Given the description of an element on the screen output the (x, y) to click on. 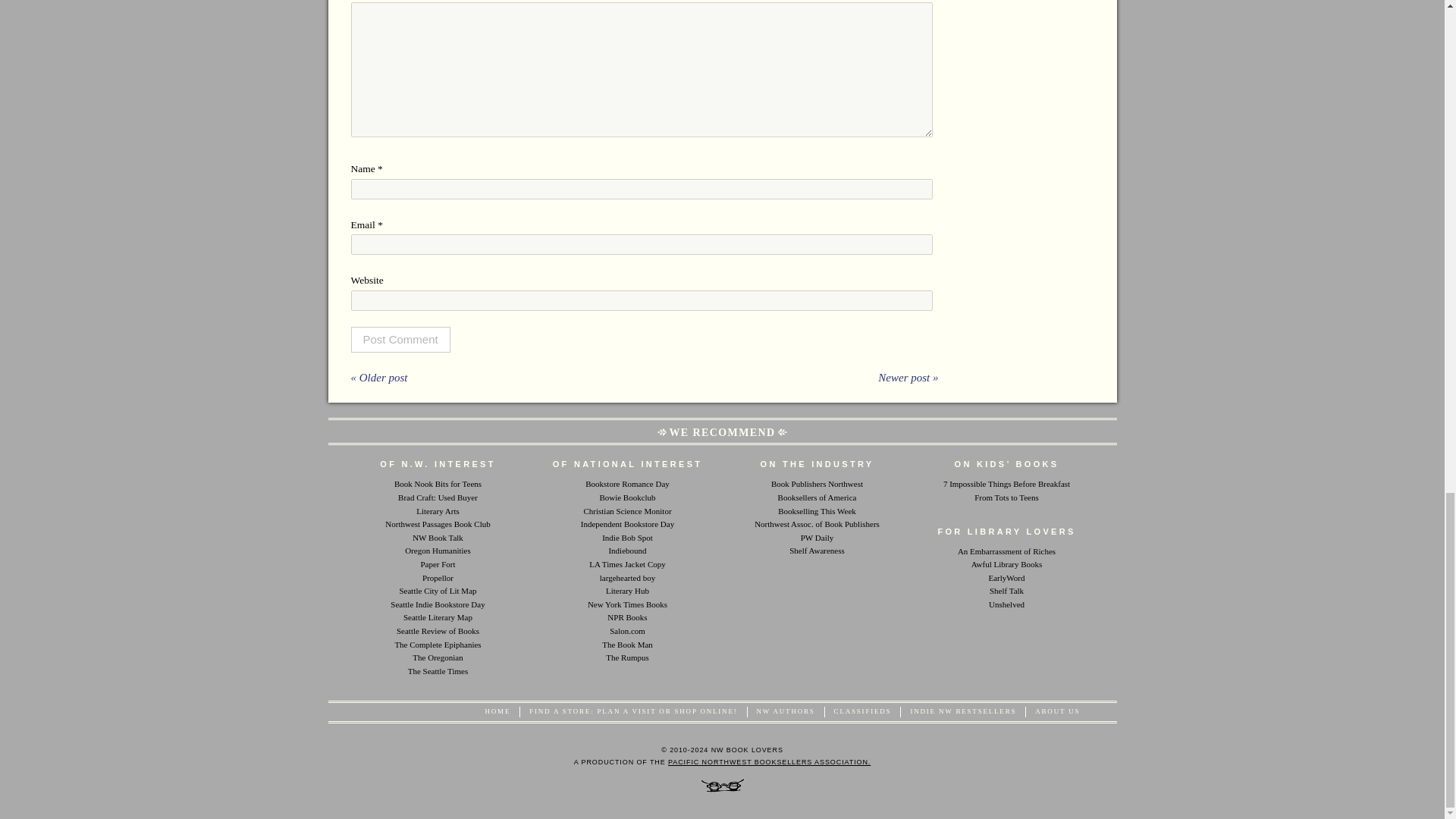
Go to the association website (769, 761)
Book recs and author interviews from the beautiful Northwest (437, 537)
Post Comment (399, 339)
Aria is a teen book blogger from Eugene, OR (437, 483)
Book and Bible Repair (627, 644)
Support and celebrate your local indie! (627, 523)
The Brian Doyle collection at The American Scholar (437, 644)
